Given the description of an element on the screen output the (x, y) to click on. 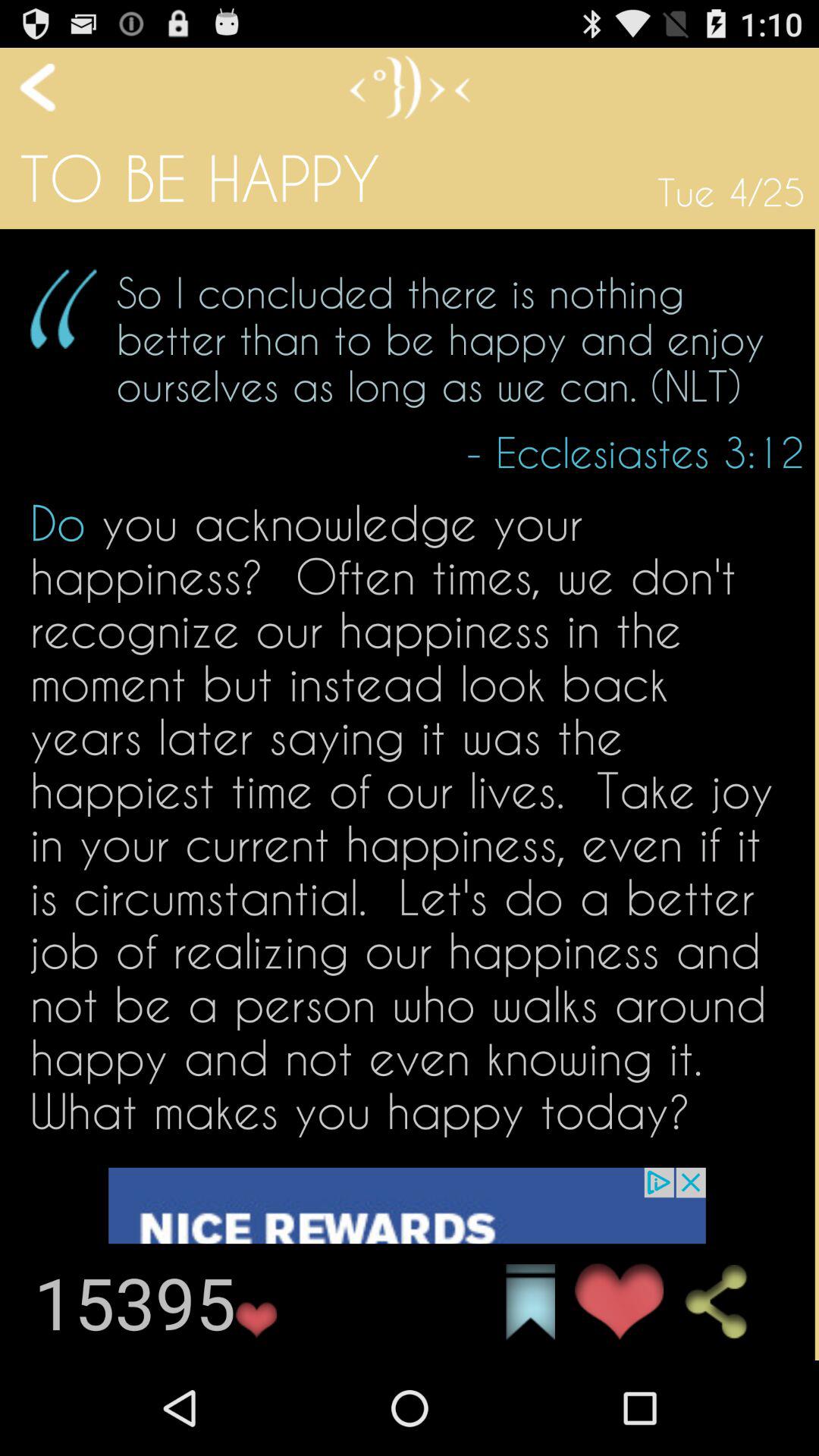
tag this (530, 1301)
